Given the description of an element on the screen output the (x, y) to click on. 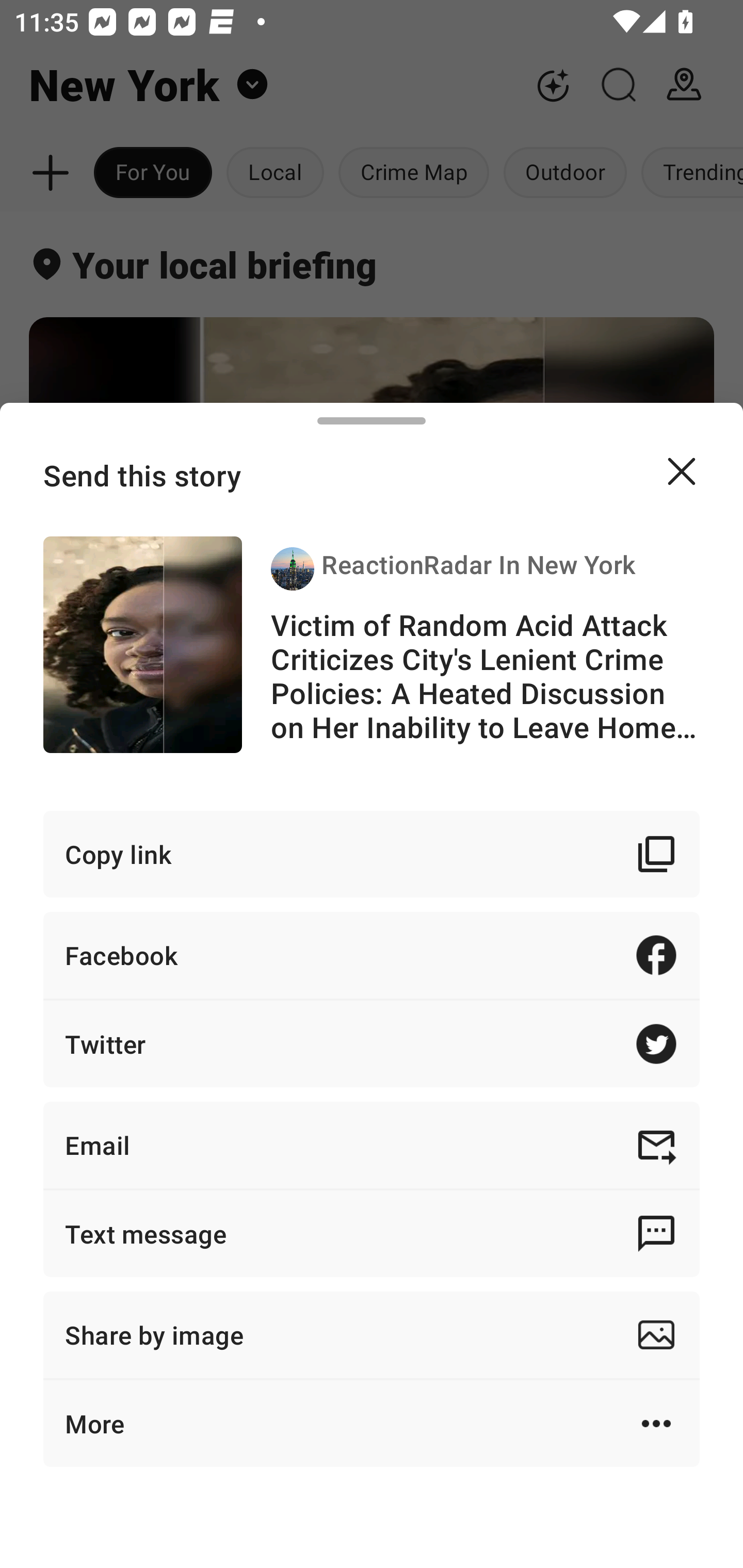
Copy link (371, 853)
Facebook (371, 955)
Twitter (371, 1043)
Email (371, 1145)
Text message (371, 1233)
Share by image (371, 1335)
More (371, 1423)
